Given the description of an element on the screen output the (x, y) to click on. 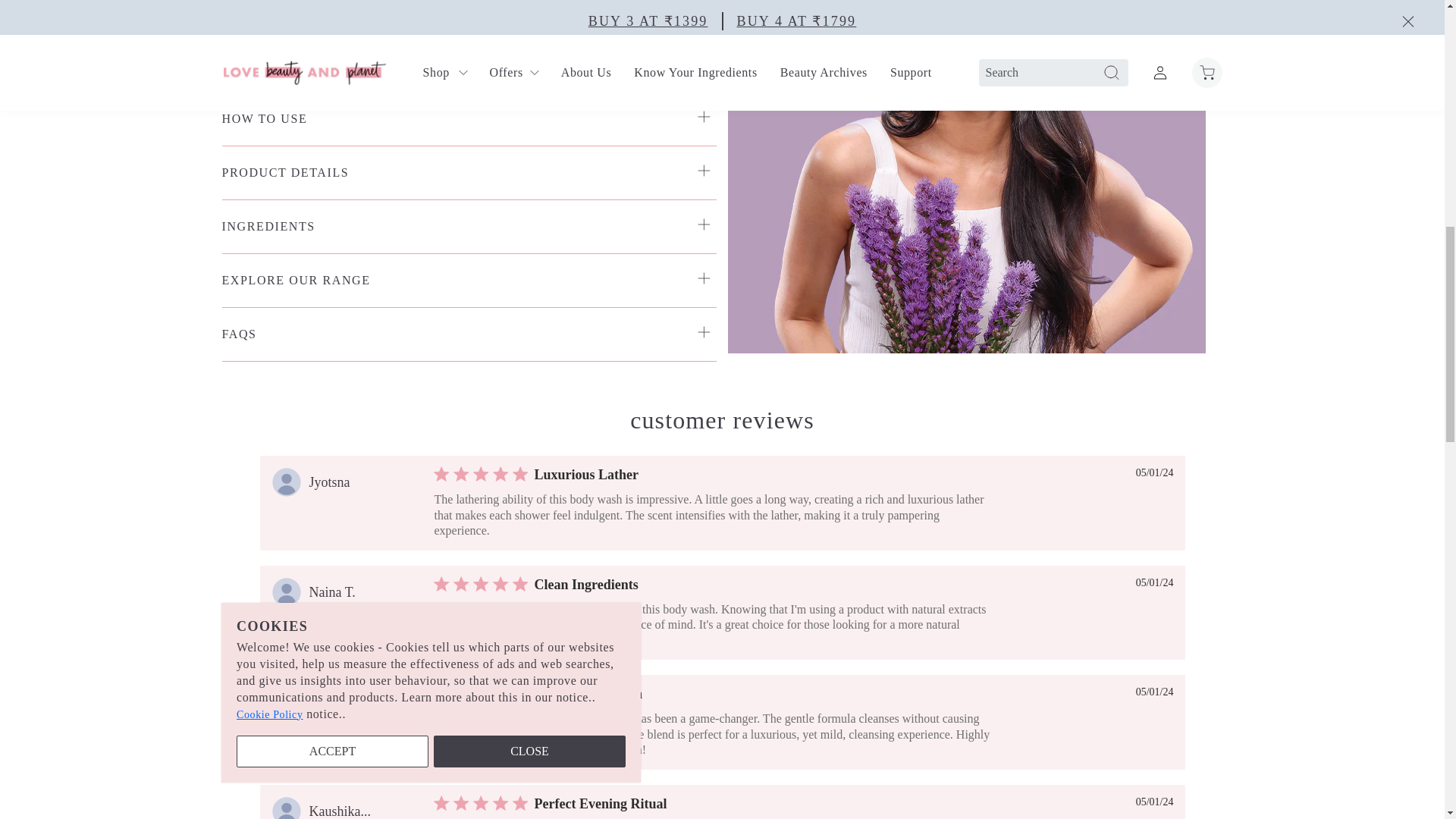
Naina T. (331, 592)
Abstract user icon (285, 481)
Jyotsna (329, 482)
Kaushika N. (339, 810)
Kavya K. (334, 701)
